Given the description of an element on the screen output the (x, y) to click on. 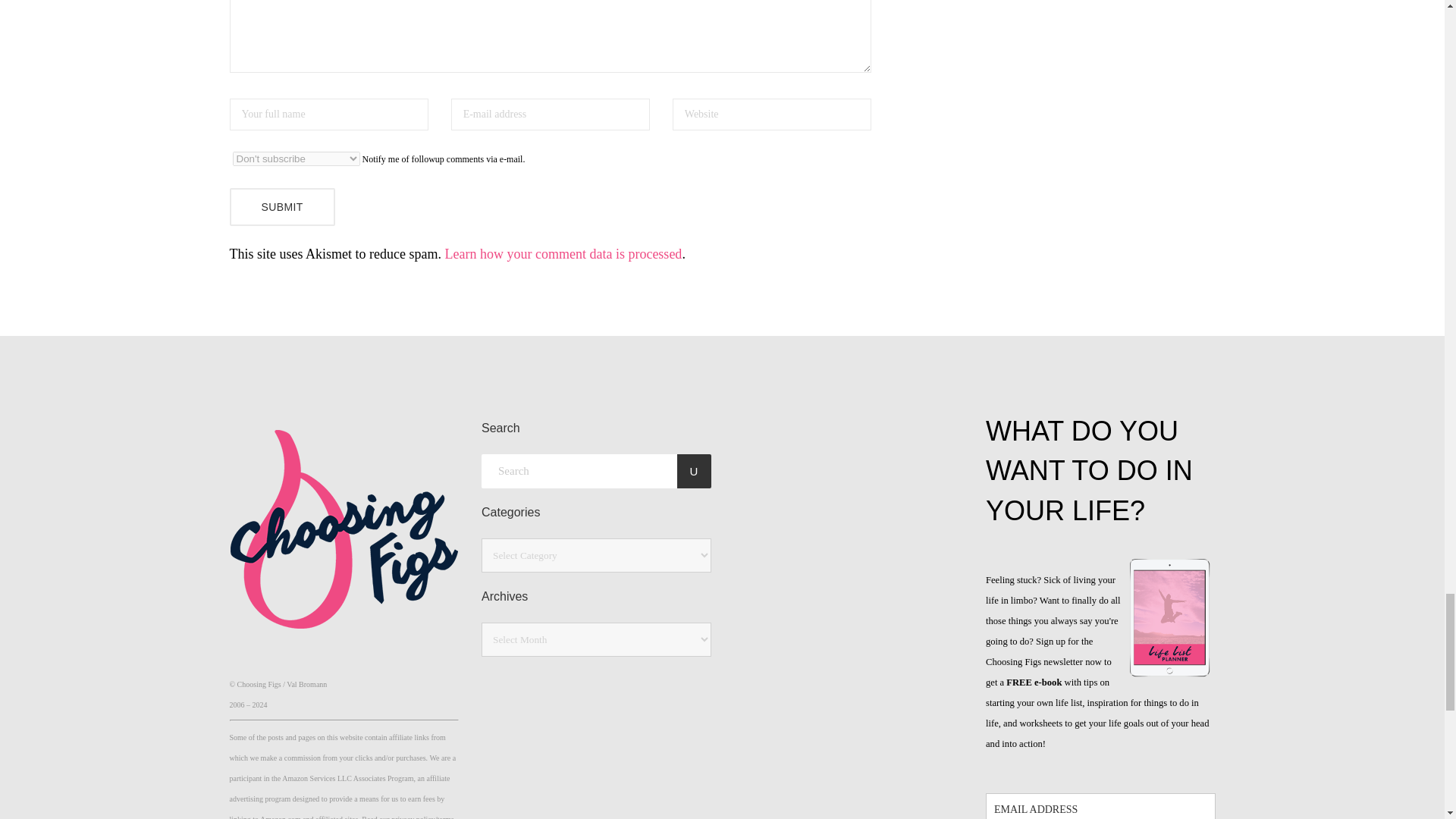
U (693, 471)
